Given the description of an element on the screen output the (x, y) to click on. 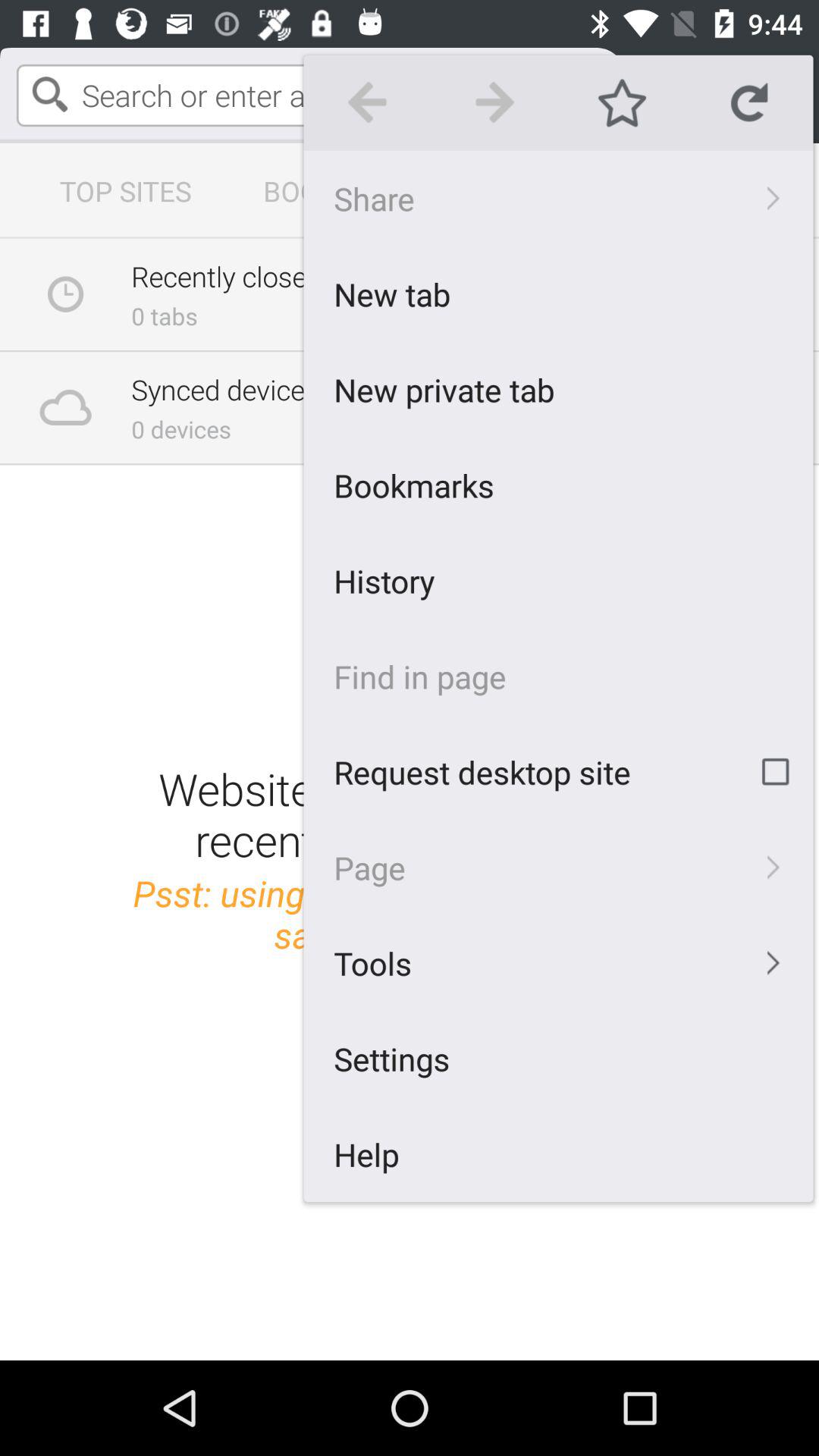
click icon above share item (494, 102)
